Given the description of an element on the screen output the (x, y) to click on. 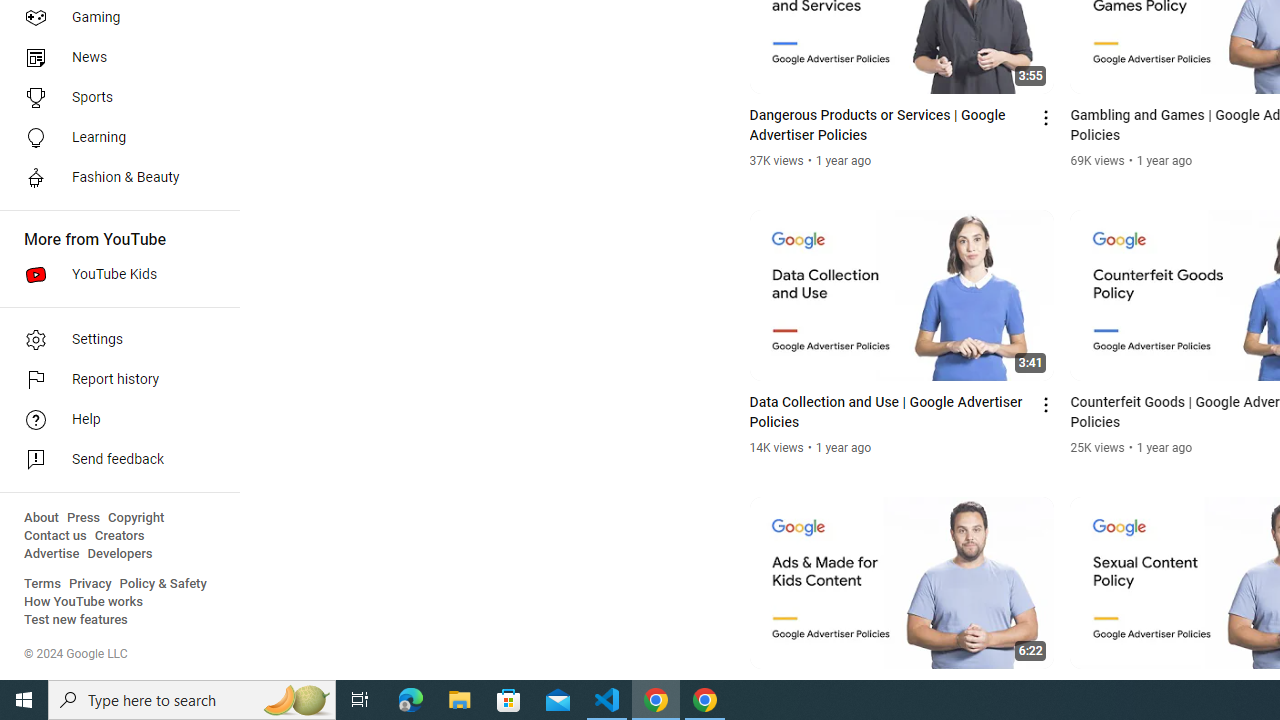
Policy & Safety (163, 584)
How YouTube works (83, 602)
Press (83, 518)
Learning (113, 137)
Action menu (1046, 691)
Send feedback (113, 459)
Test new features (76, 620)
Report history (113, 380)
